Given the description of an element on the screen output the (x, y) to click on. 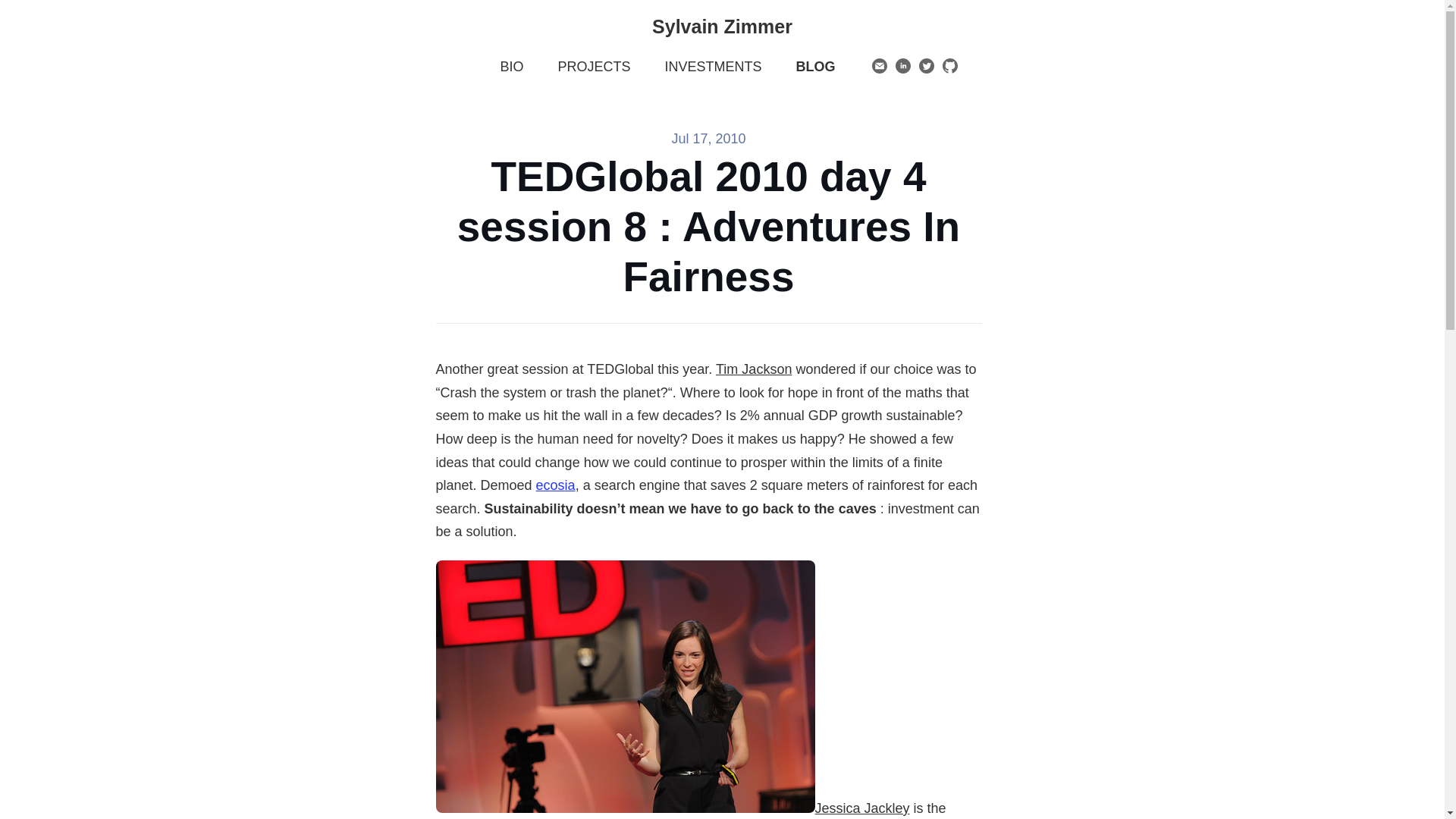
PROJECTS (593, 66)
BIO (510, 66)
INVESTMENTS (712, 66)
BLOG (815, 66)
ecosia (555, 485)
